Given the description of an element on the screen output the (x, y) to click on. 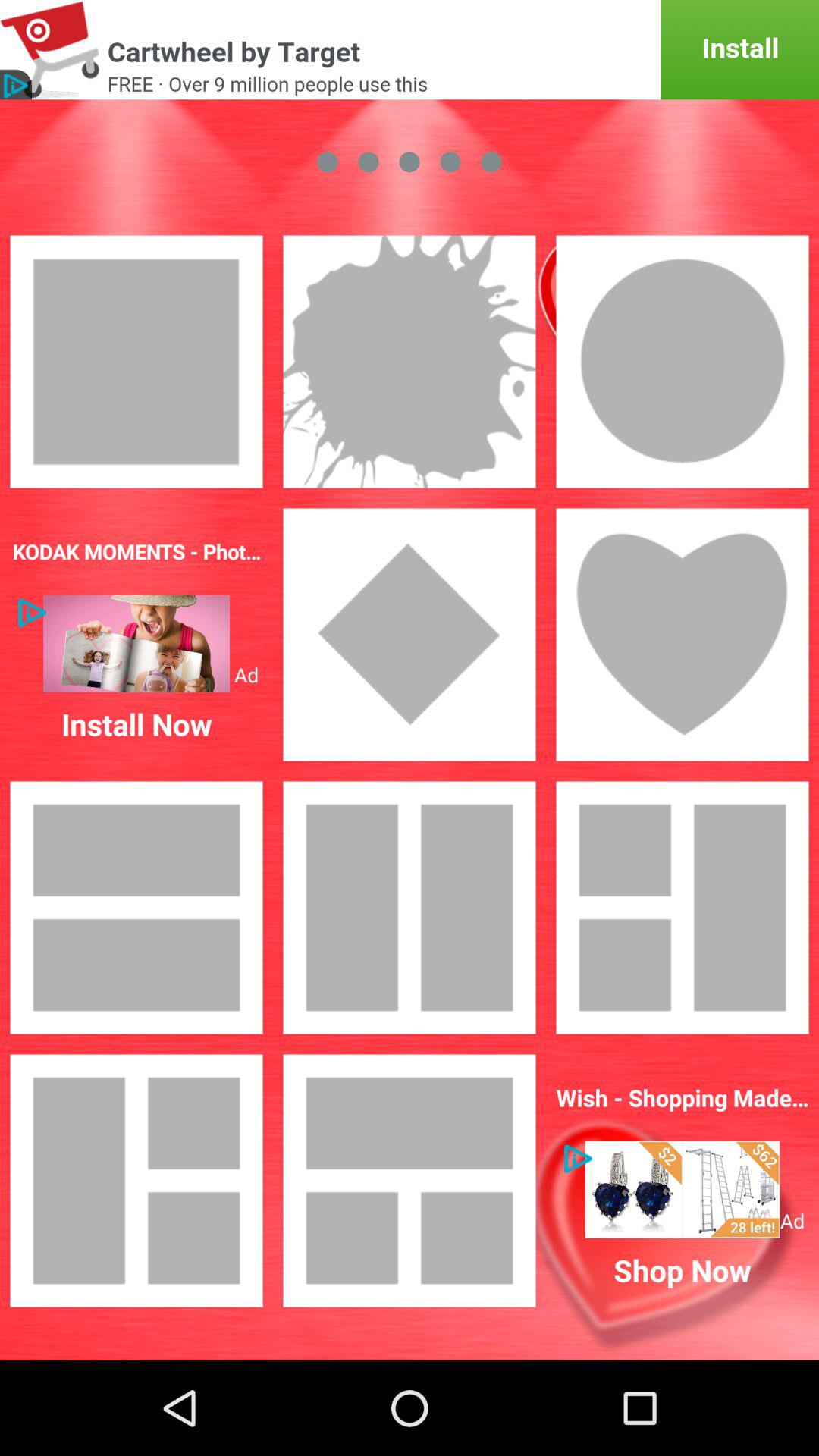
install the app (409, 49)
